Given the description of an element on the screen output the (x, y) to click on. 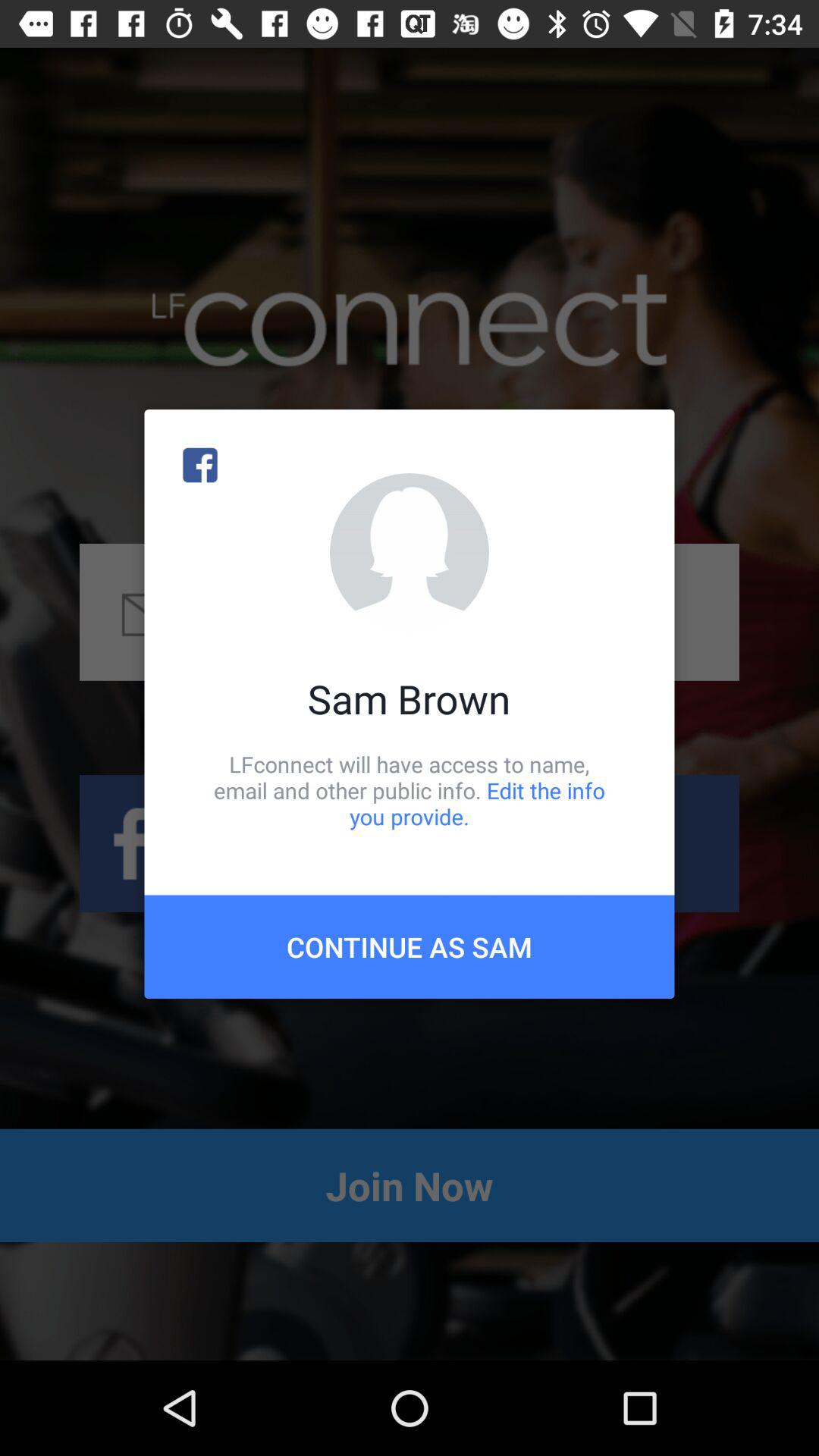
select item below sam brown item (409, 790)
